Given the description of an element on the screen output the (x, y) to click on. 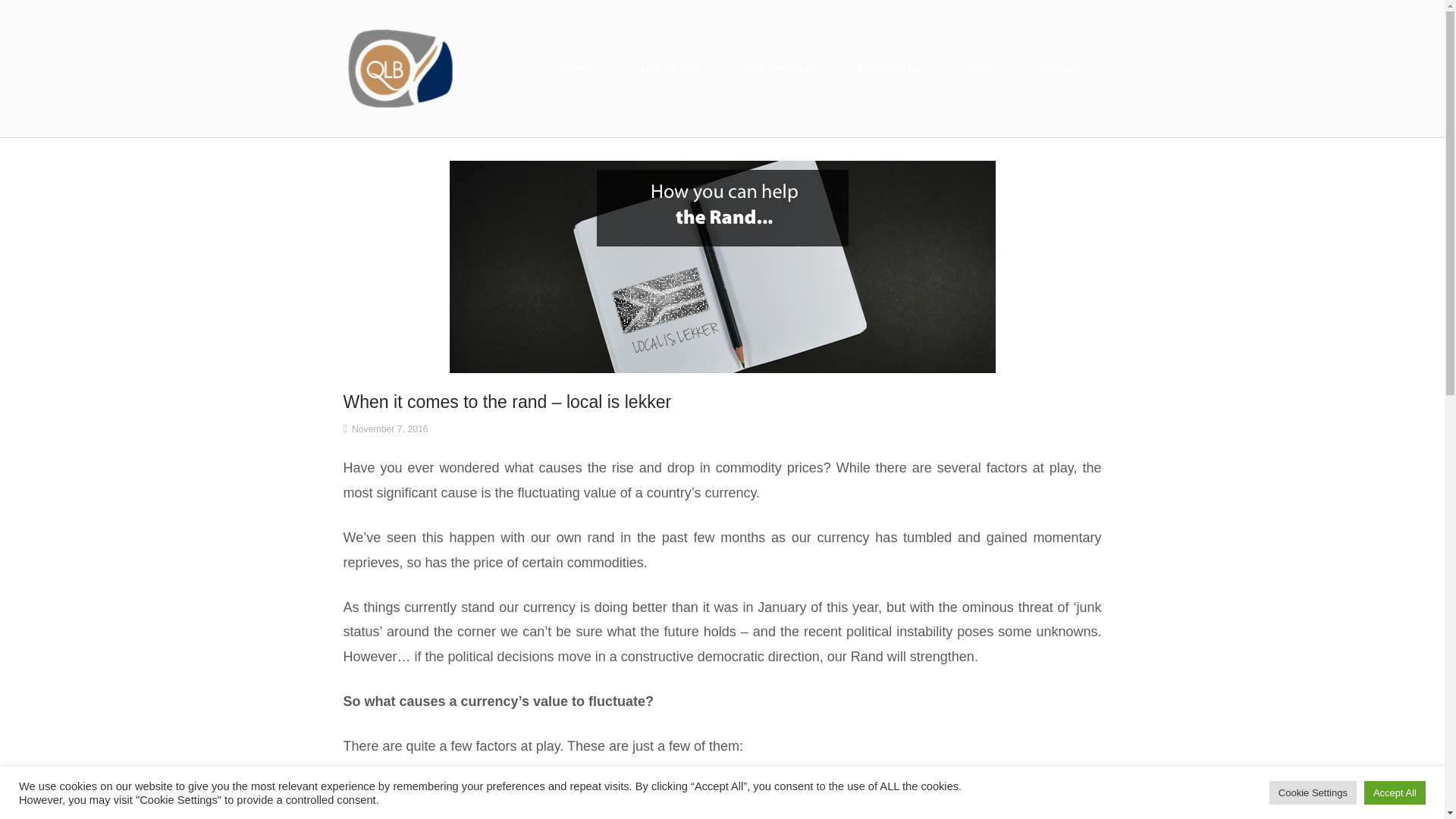
Cookie Settings (1312, 792)
November 7, 2016 (390, 429)
Your Choice (668, 68)
Accept All (1394, 792)
Home (399, 67)
Contact (1059, 68)
Our Process (778, 68)
Home (575, 68)
Testimonials (888, 68)
Blog (980, 68)
